Given the description of an element on the screen output the (x, y) to click on. 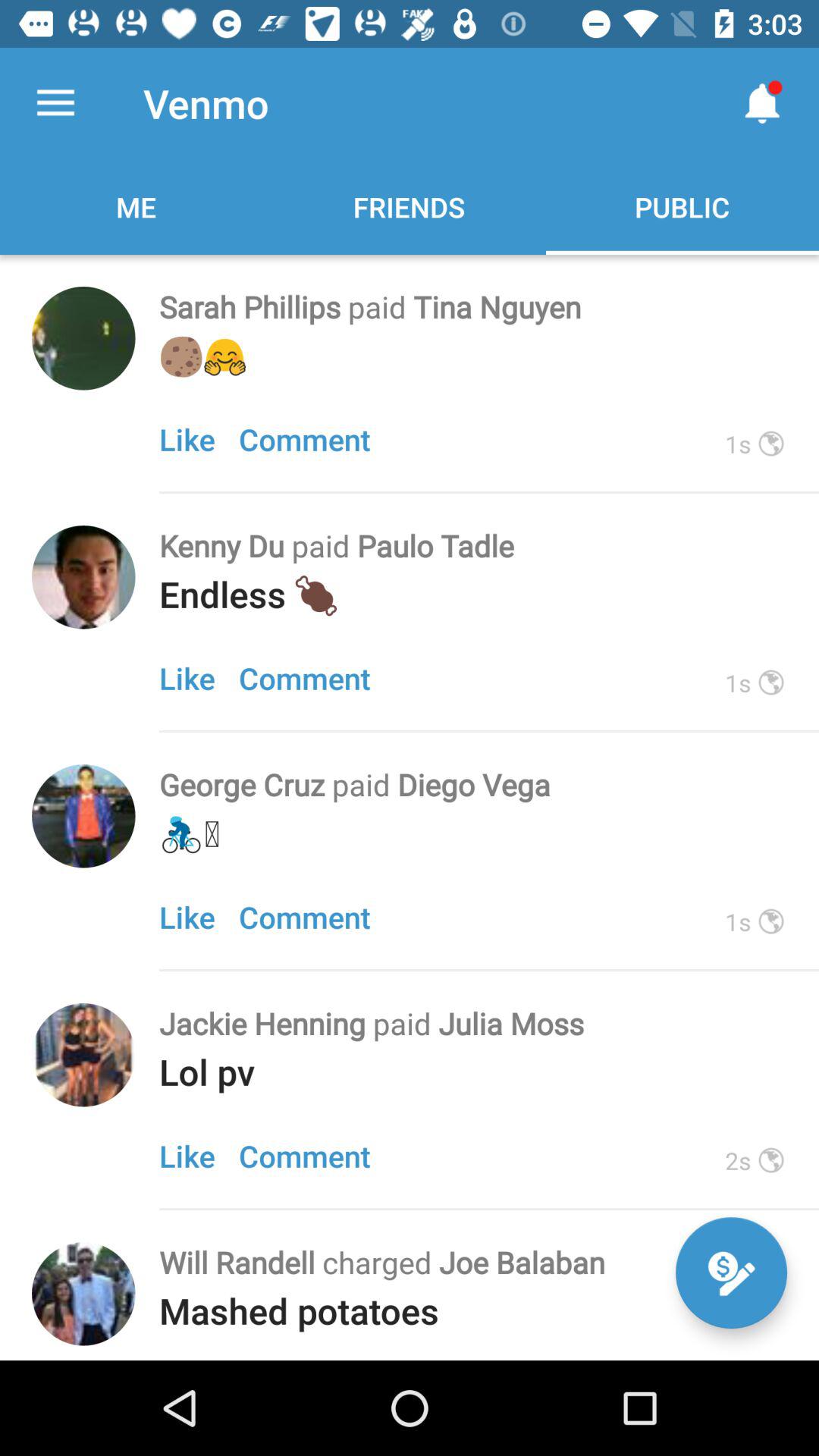
compose a message (731, 1272)
